Given the description of an element on the screen output the (x, y) to click on. 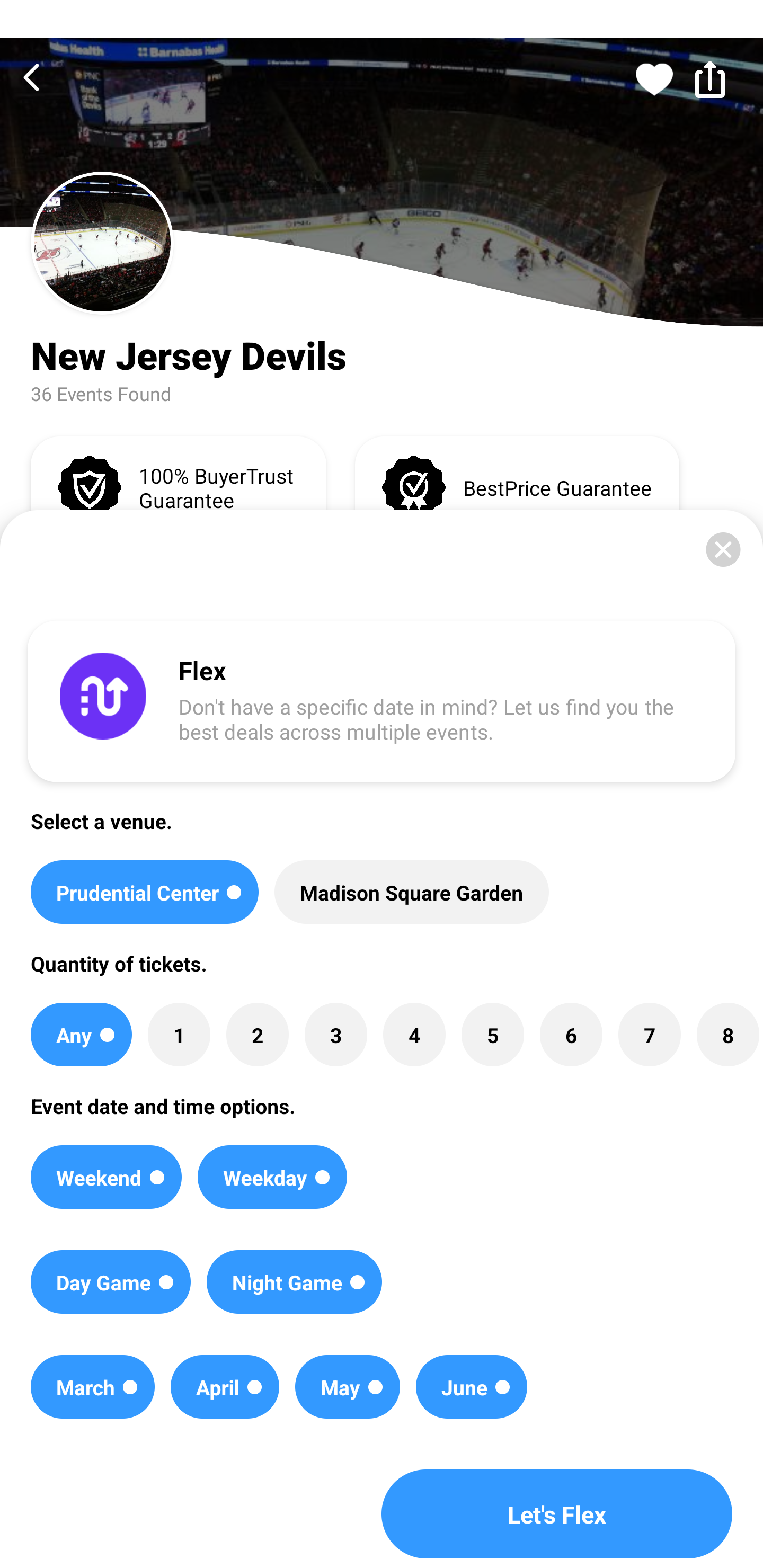
Prudential Center (144, 891)
Madison Square Garden (411, 891)
Any (80, 1034)
1 (179, 1034)
2 (257, 1034)
3 (335, 1034)
4 (414, 1034)
5 (492, 1034)
6 (571, 1034)
7 (649, 1034)
8 (727, 1034)
Weekend (105, 1176)
Weekday (272, 1176)
Day Game (110, 1281)
Night Game (294, 1281)
March (92, 1386)
April (224, 1386)
May (347, 1386)
June (471, 1386)
Let's Flex (556, 1513)
